Given the description of an element on the screen output the (x, y) to click on. 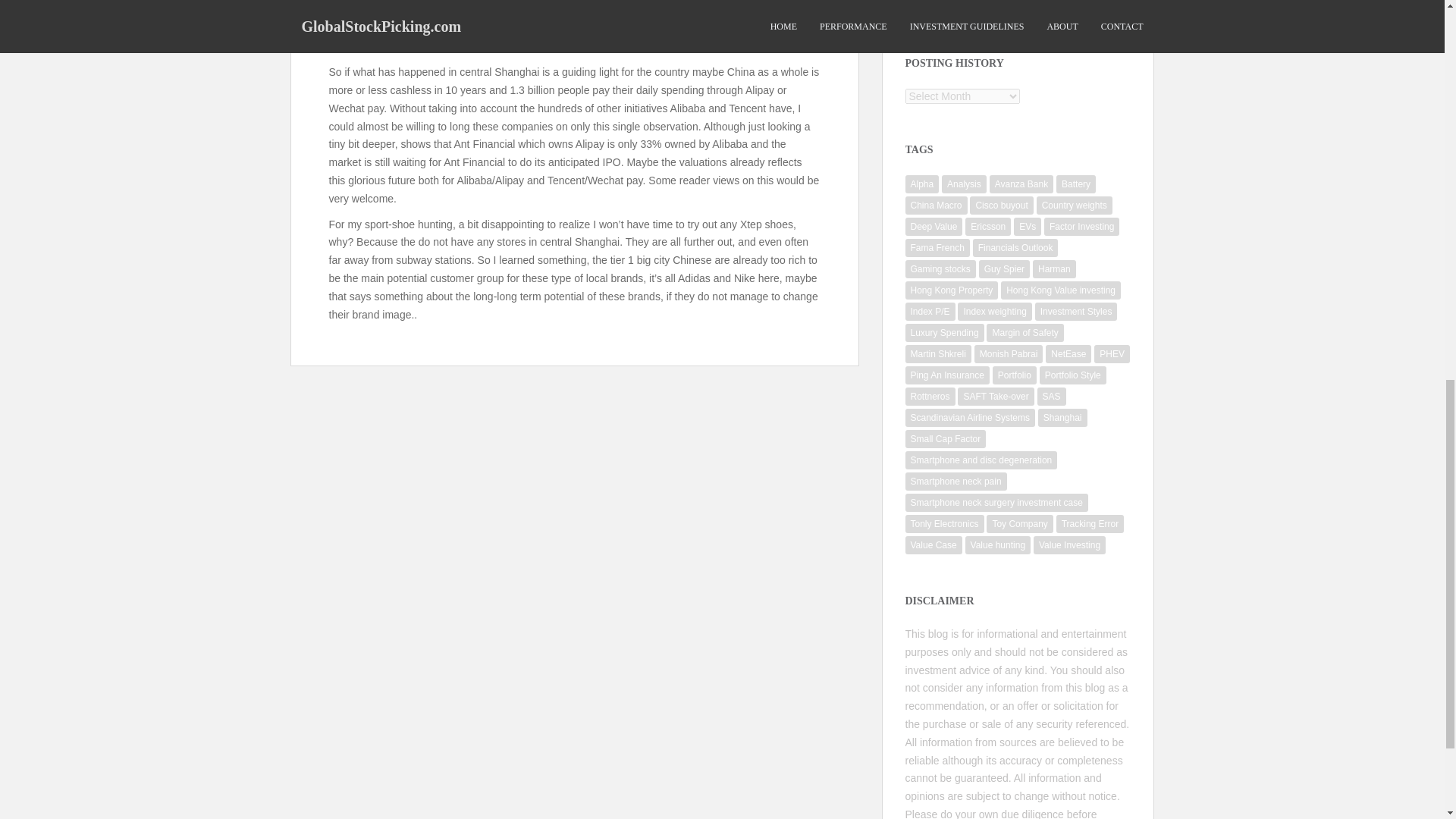
China Macro (936, 205)
Factor Investing (1081, 226)
Battery (1076, 184)
I promised a fresh start and something new (1012, 1)
Alpha (922, 184)
Deep Value (933, 226)
Fama French (937, 248)
Avanza Bank (1022, 184)
Country weights (1074, 205)
Ericsson (987, 226)
Analysis (964, 184)
Financials Outlook (1015, 248)
EVs (1027, 226)
Cisco buyout (1000, 205)
